Given the description of an element on the screen output the (x, y) to click on. 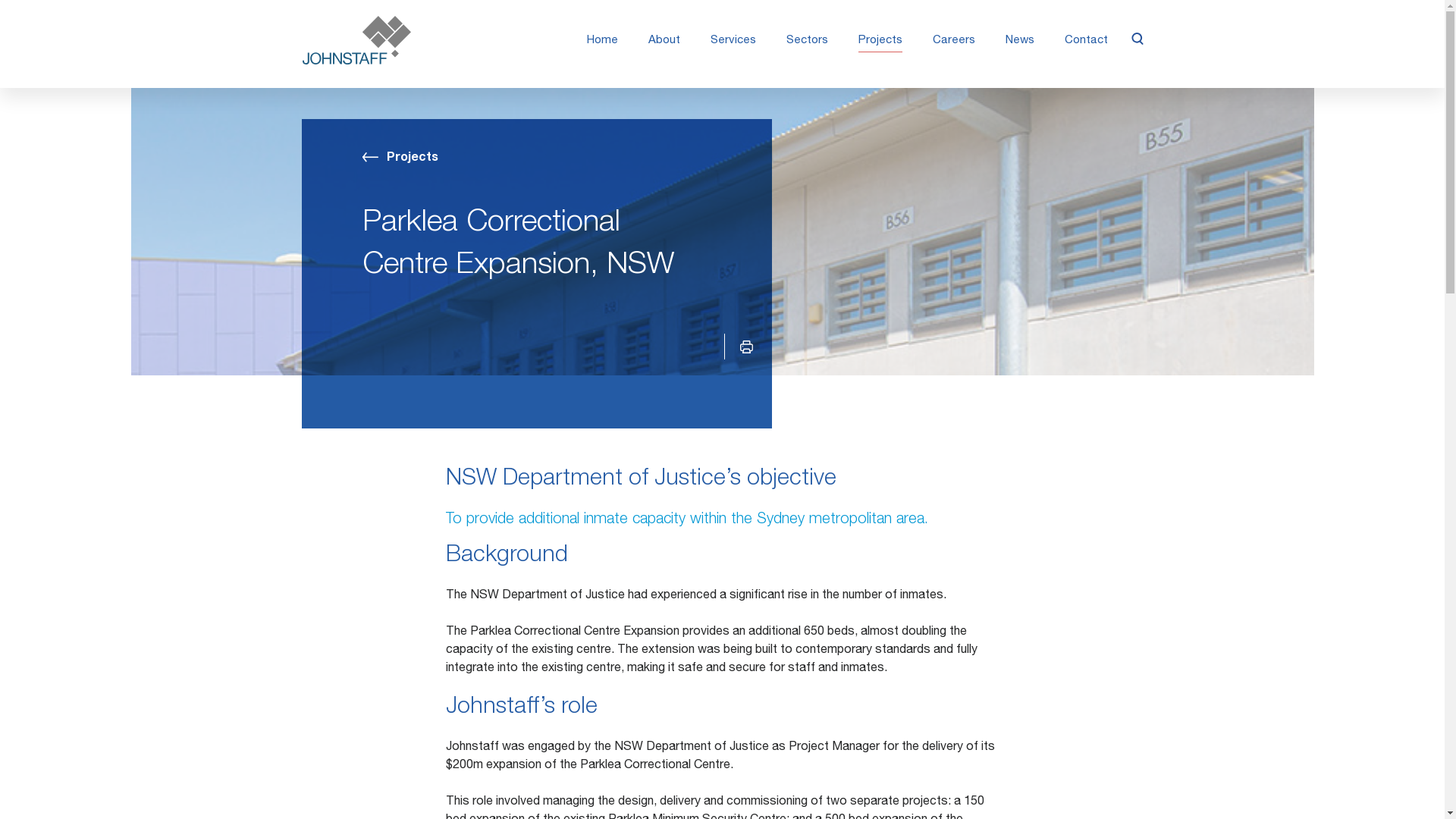
Careers Element type: text (953, 40)
Projects Element type: text (400, 158)
Sectors Element type: text (806, 40)
Services Element type: text (732, 40)
Home Element type: text (601, 40)
Projects Element type: text (879, 40)
About Element type: text (663, 40)
News Element type: text (1019, 40)
Contact Element type: text (1085, 40)
